Given the description of an element on the screen output the (x, y) to click on. 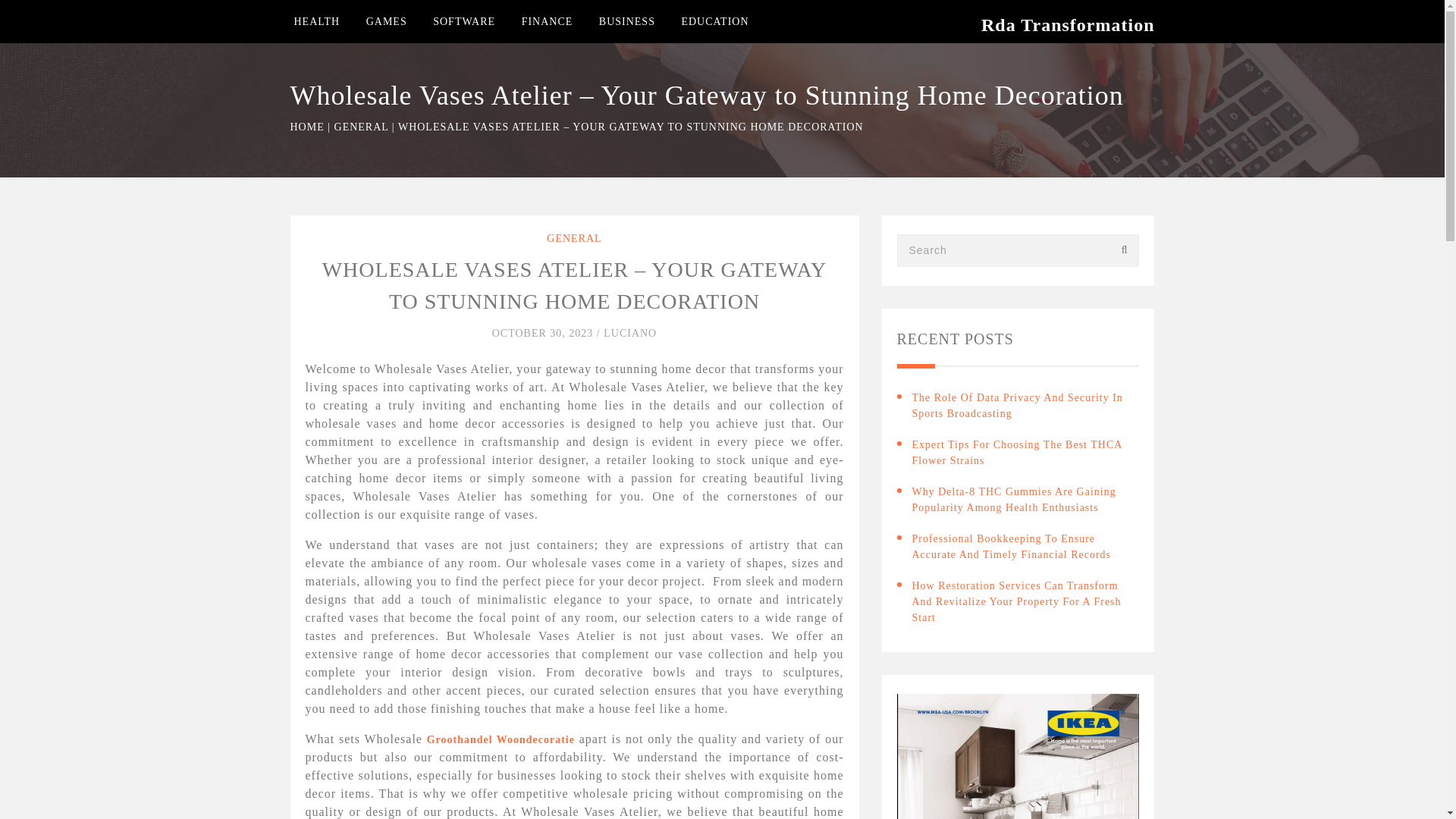
The Role Of Data Privacy And Security In Sports Broadcasting (1024, 405)
BUSINESS (626, 21)
Rda Transformation (1067, 25)
GENERAL (361, 126)
SOFTWARE (463, 21)
HEALTH (317, 21)
OCTOBER 30, 2023 (544, 333)
GENERAL (574, 238)
